Given the description of an element on the screen output the (x, y) to click on. 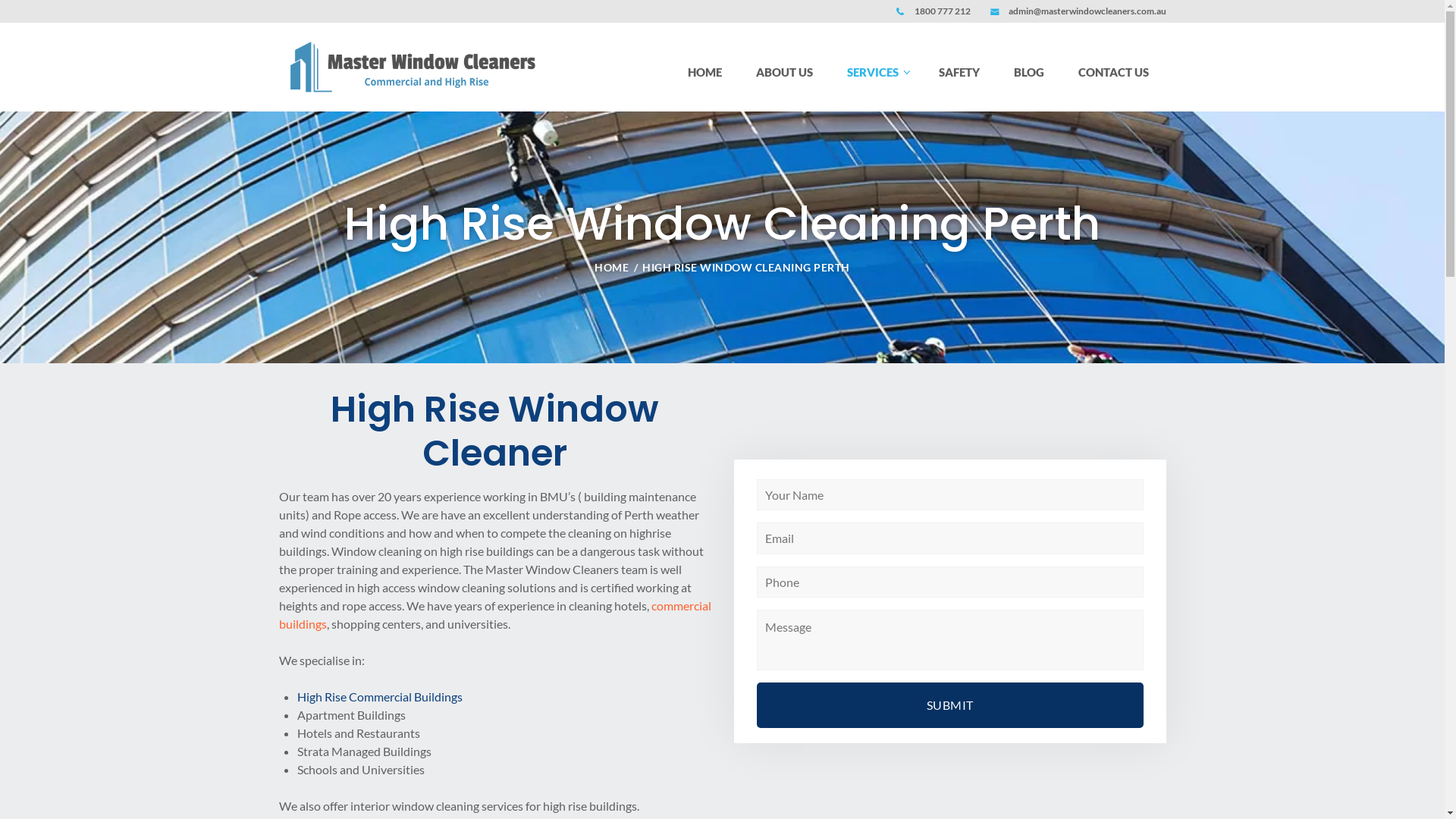
HOME Element type: text (705, 71)
SAFETY Element type: text (959, 71)
ABOUT US Element type: text (784, 71)
commercial buildings Element type: text (495, 614)
CONTACT US Element type: text (1113, 71)
1800 777 212 Element type: text (942, 10)
HOME Element type: text (611, 267)
admin@masterwindowcleaners.com.au Element type: text (1087, 10)
High Rise Commercial Buildings Element type: text (379, 696)
SERVICES Element type: text (876, 71)
Submit Element type: text (949, 705)
BLOG Element type: text (1028, 71)
